Given the description of an element on the screen output the (x, y) to click on. 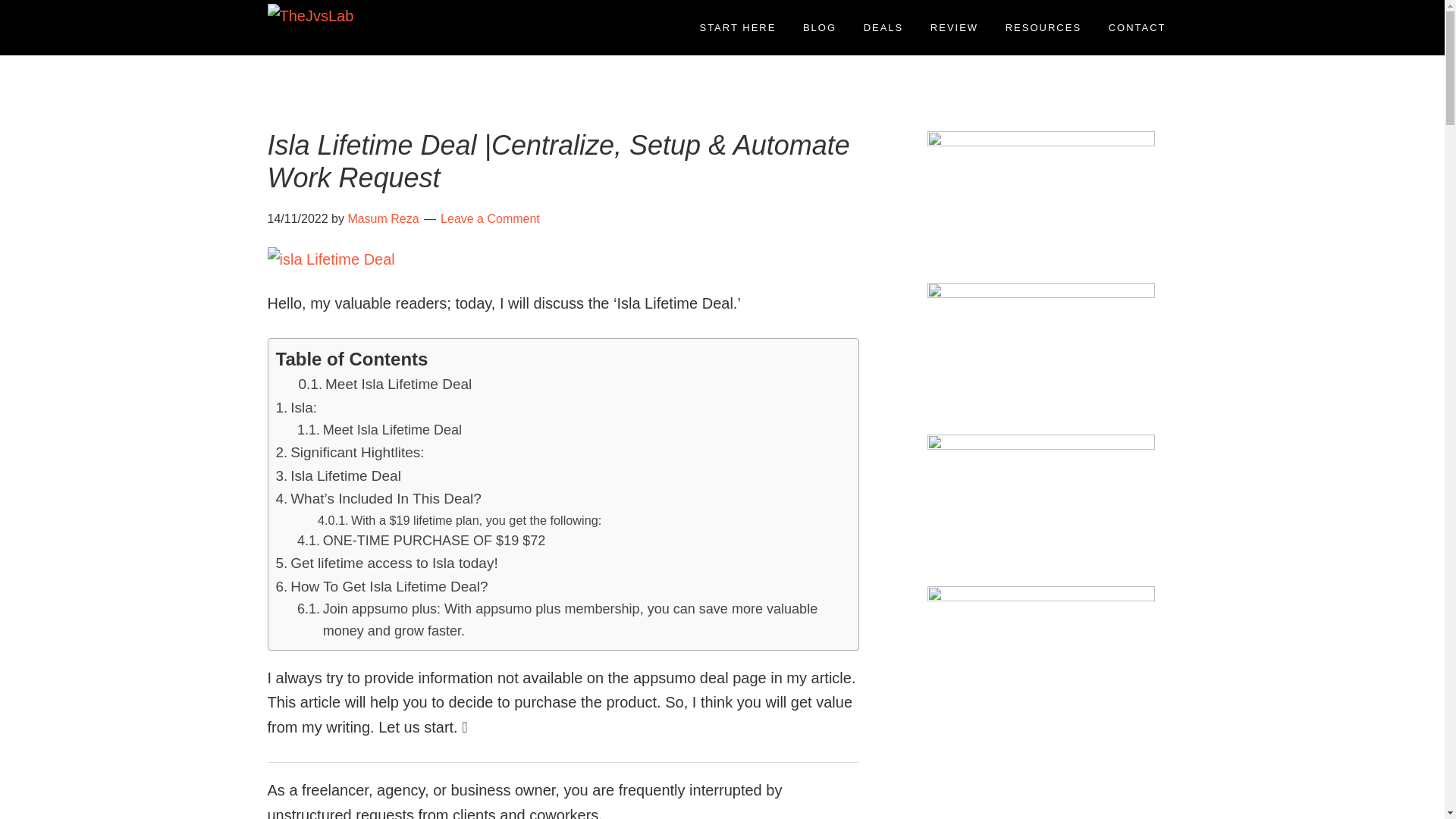
REVIEW (954, 27)
 Meet Isla Lifetime Deal (379, 430)
Masum Reza (383, 218)
How To Get Isla Lifetime Deal? (381, 586)
START HERE (737, 27)
BLOG (819, 27)
Meet Isla Lifetime Deal (384, 384)
How To Get Isla Lifetime Deal? (381, 586)
 Get lifetime access to Isla today! (386, 563)
 Meet Isla Lifetime Deal (384, 384)
Significant Hightlites: (350, 452)
Get lifetime access to Isla today! (386, 563)
Leave a Comment (490, 218)
